Given the description of an element on the screen output the (x, y) to click on. 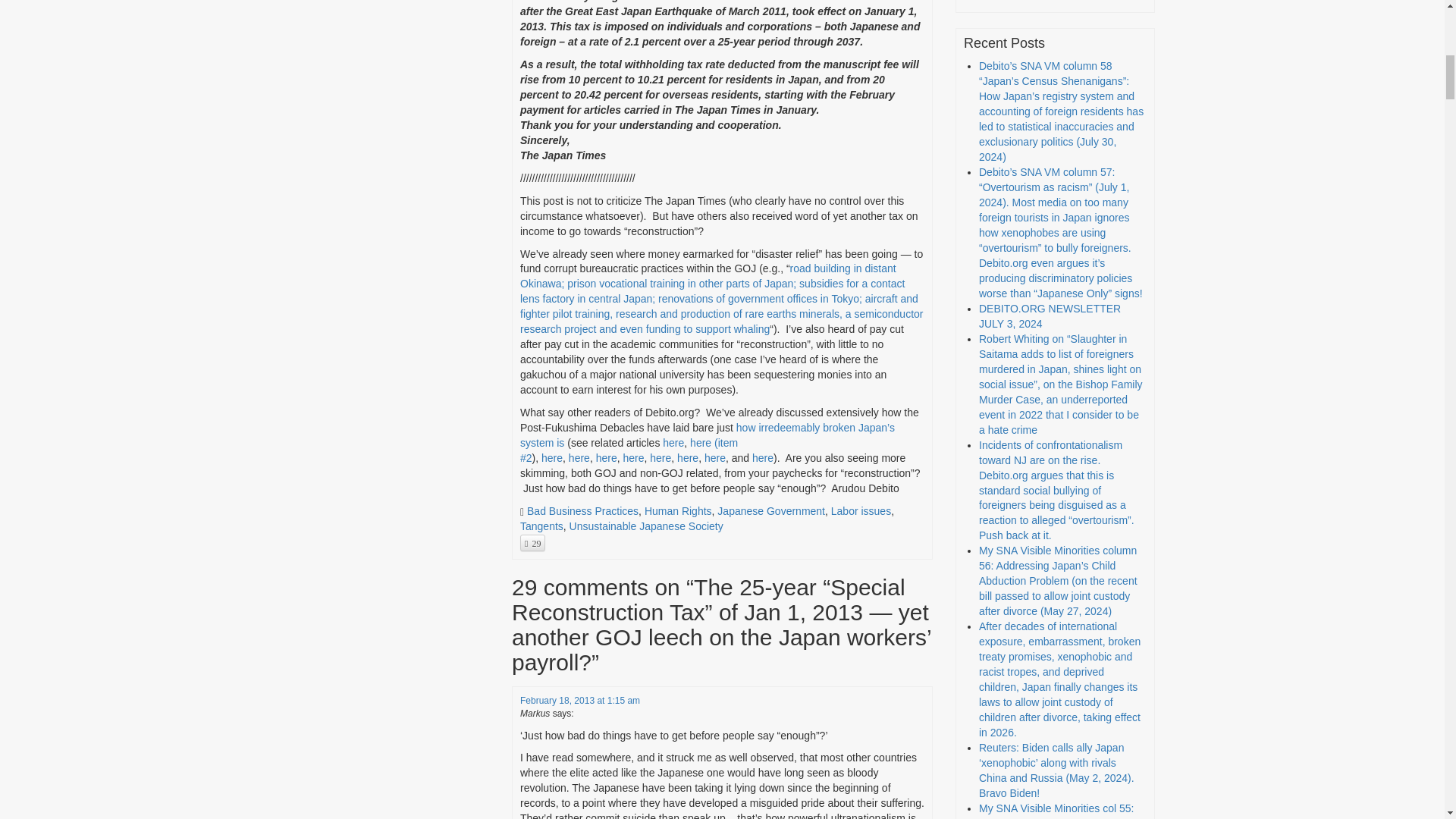
here (714, 458)
here (606, 458)
here (579, 458)
here (660, 458)
Japanese Government (771, 510)
here (633, 458)
here (762, 458)
here (551, 458)
here (673, 442)
